Given the description of an element on the screen output the (x, y) to click on. 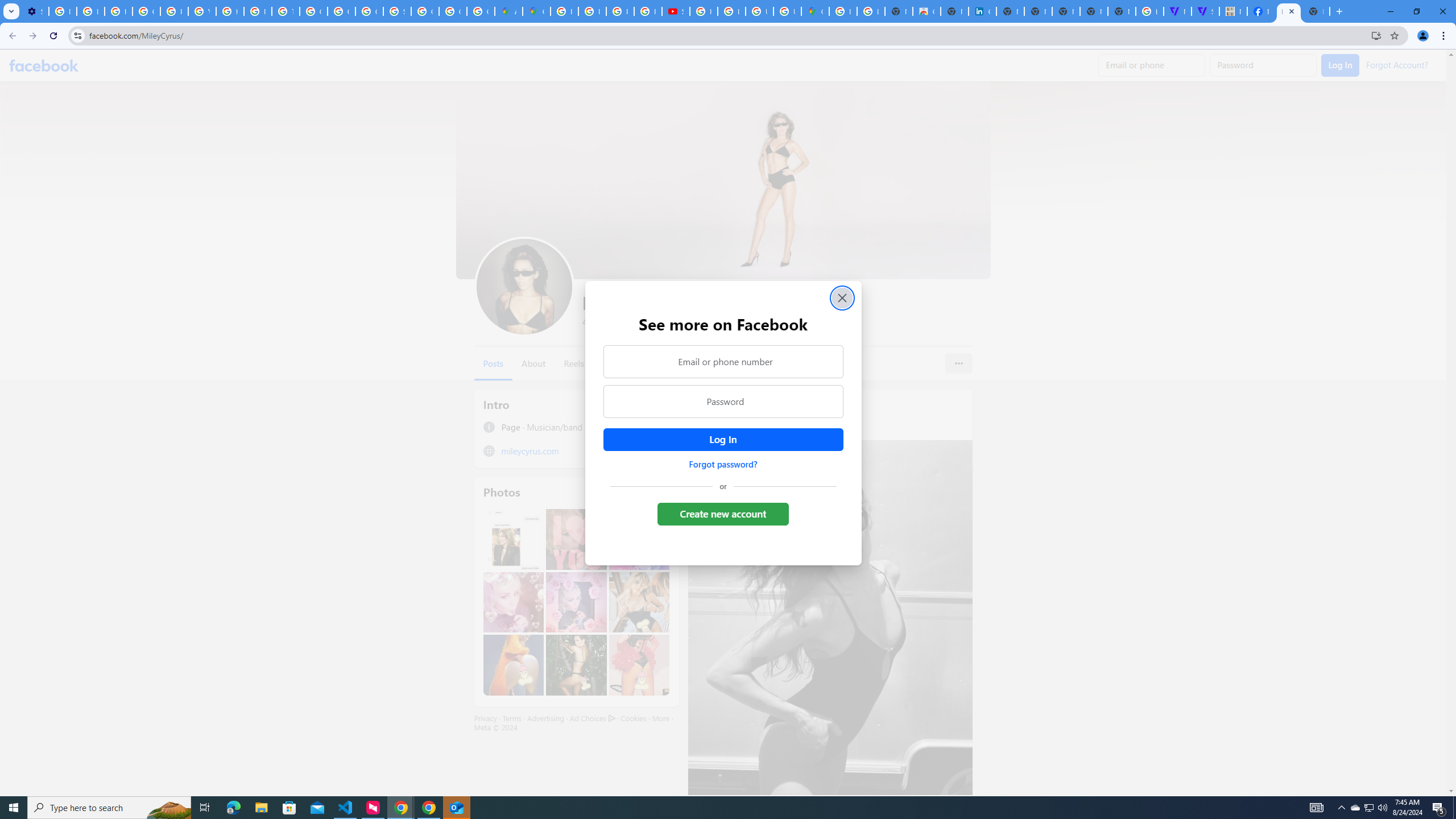
Google Maps (815, 11)
Learn how to find your photos - Google Photos Help (90, 11)
Privacy Help Center - Policies Help (257, 11)
Google Account Help (146, 11)
Miley Cyrus | Facebook (1288, 11)
